Given the description of an element on the screen output the (x, y) to click on. 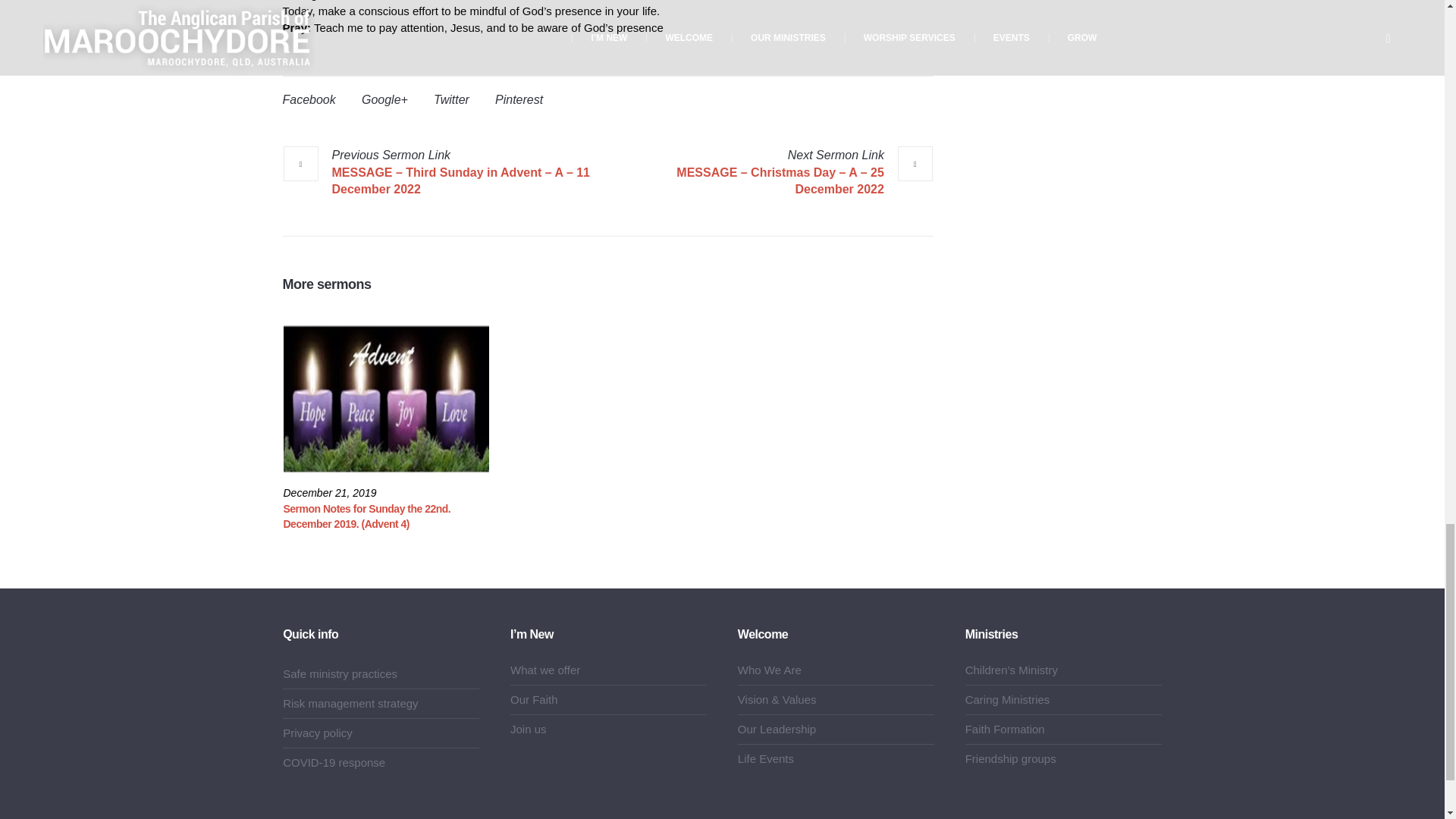
December 21, 2019 (330, 492)
